Given the description of an element on the screen output the (x, y) to click on. 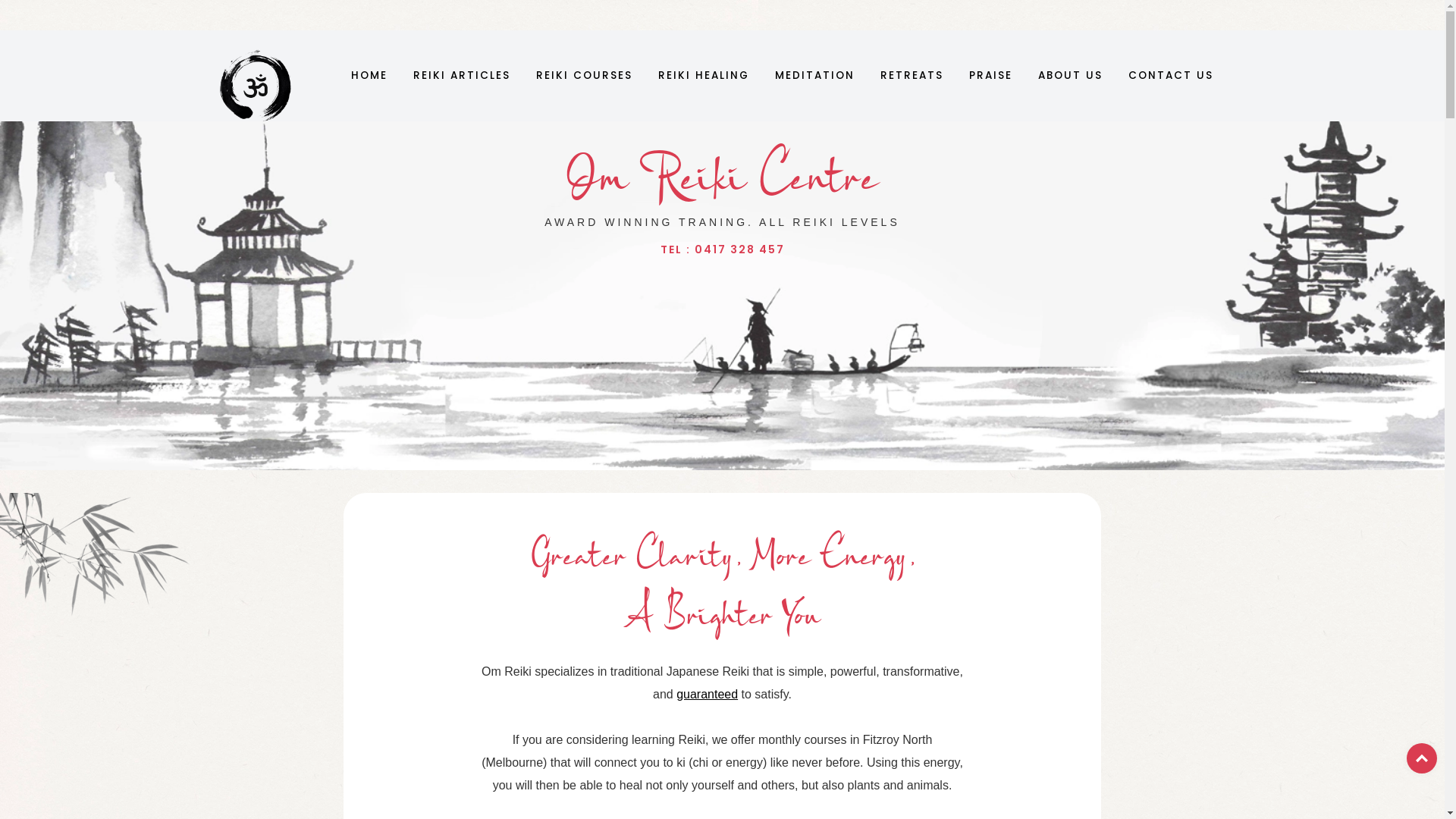
guaranteed Element type: text (706, 693)
REIKI ARTICLES Element type: text (461, 75)
TEL : 0417 328 457 Element type: text (721, 249)
CONTACT US Element type: text (1170, 75)
RETREATS Element type: text (911, 75)
REIKI COURSES Element type: text (583, 75)
REIKI HEALING Element type: text (703, 75)
Top Element type: text (1421, 758)
MEDITATION Element type: text (814, 75)
ABOUT US Element type: text (1069, 75)
PRAISE Element type: text (990, 75)
HOME Element type: text (368, 75)
